Given the description of an element on the screen output the (x, y) to click on. 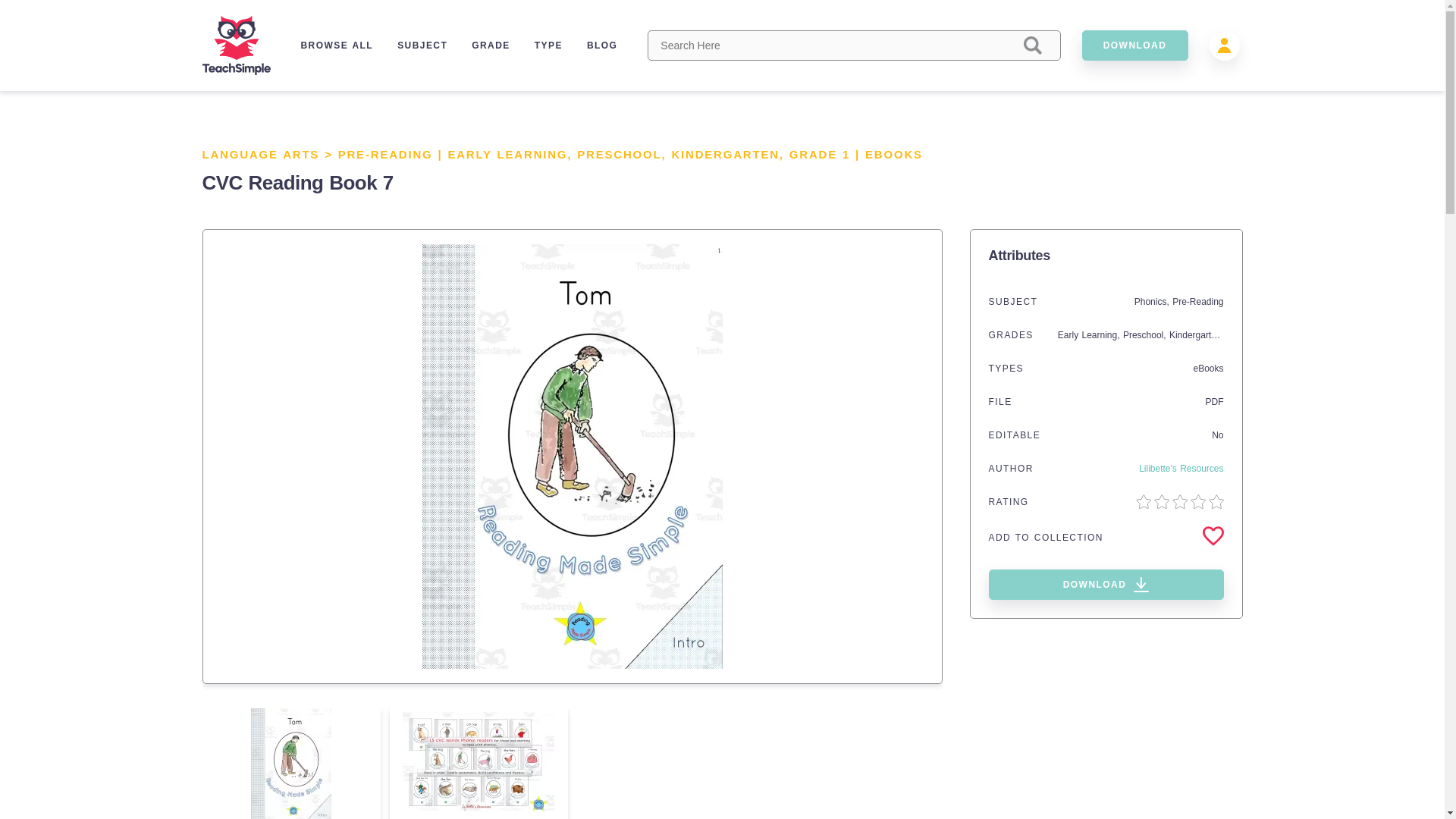
PDF (1214, 401)
LANGUAGE ARTS (260, 154)
Preschool, (1145, 335)
DOWNLOAD (1106, 584)
PRESCHOOL, (623, 154)
PRE-READING (384, 154)
Kindergarten (1195, 335)
1 (846, 154)
Pre-Reading (1197, 301)
Phonics, (1153, 301)
Lilibette's Resources (1180, 468)
EBOOKS (893, 154)
Early Learning, (1090, 335)
KINDERGARTEN (724, 154)
BLOG (601, 45)
